Given the description of an element on the screen output the (x, y) to click on. 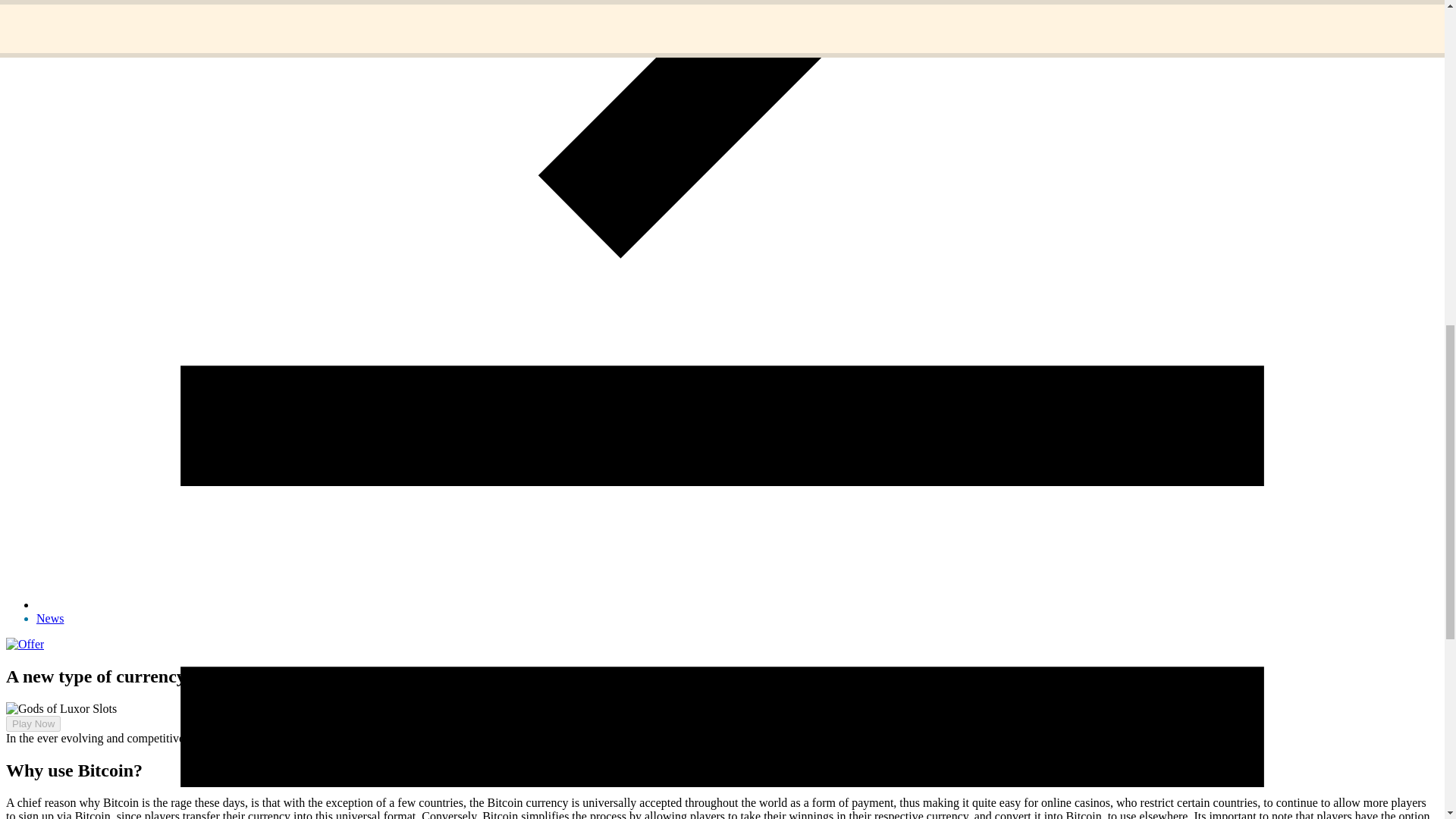
News (50, 617)
Play Now (33, 723)
Play Now (27, 722)
